Given the description of an element on the screen output the (x, y) to click on. 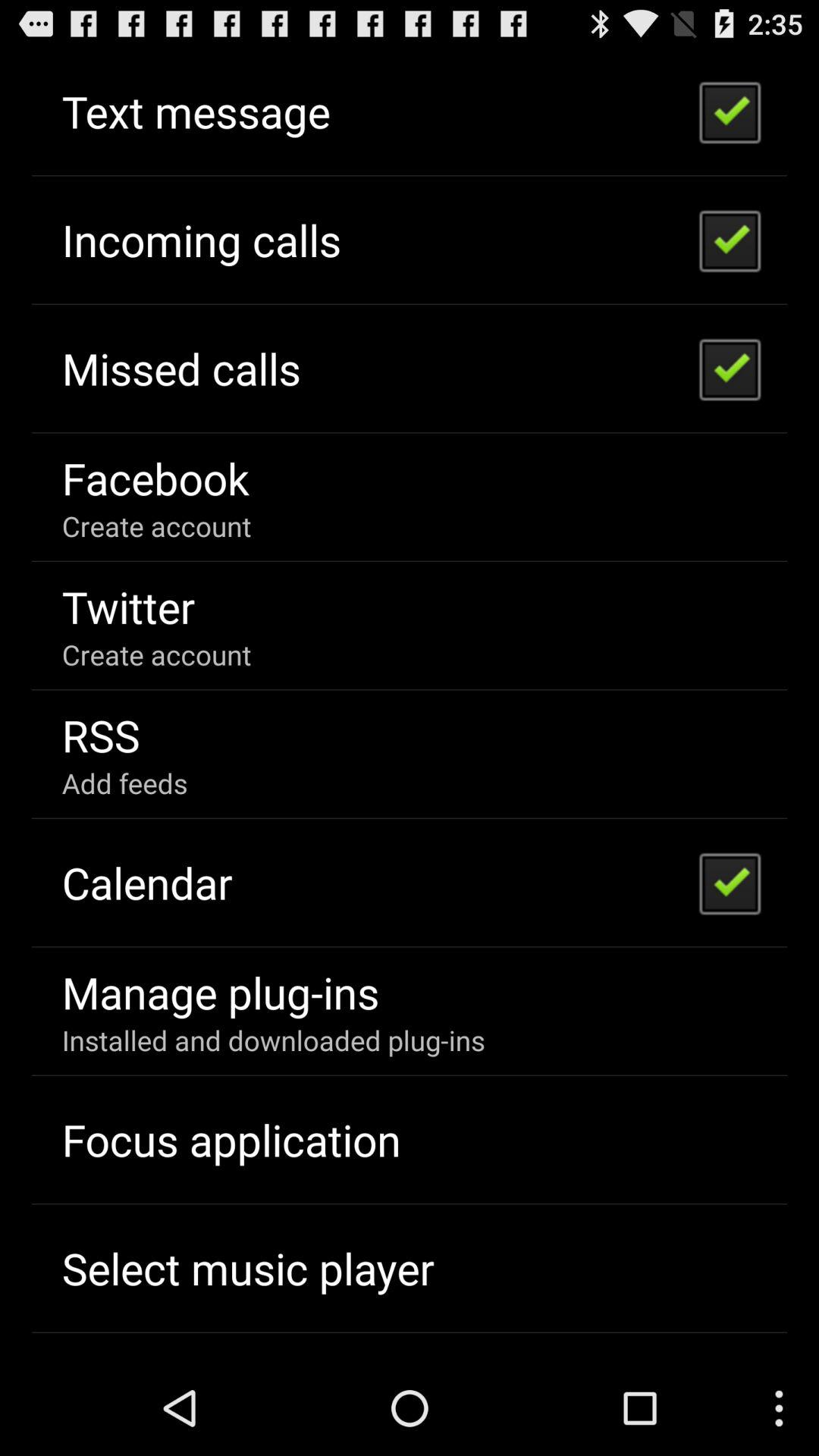
click missed calls app (180, 367)
